Given the description of an element on the screen output the (x, y) to click on. 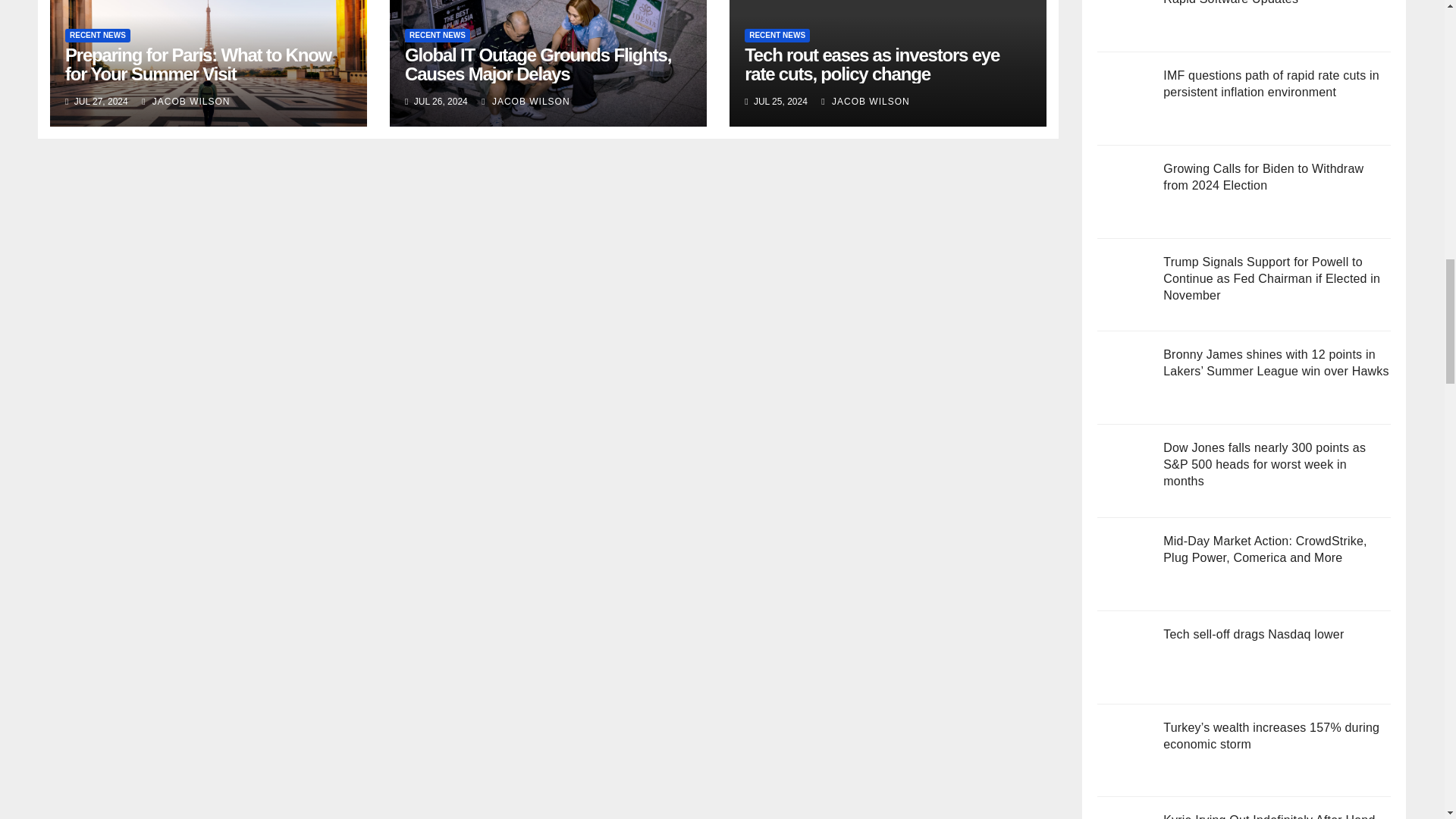
RECENT NEWS (437, 35)
JACOB WILSON (525, 101)
Global IT Outage Grounds Flights, Causes Major Delays (537, 64)
RECENT NEWS (98, 35)
Preparing for Paris: What to Know for Your Summer Visit (198, 64)
JACOB WILSON (185, 101)
